Given the description of an element on the screen output the (x, y) to click on. 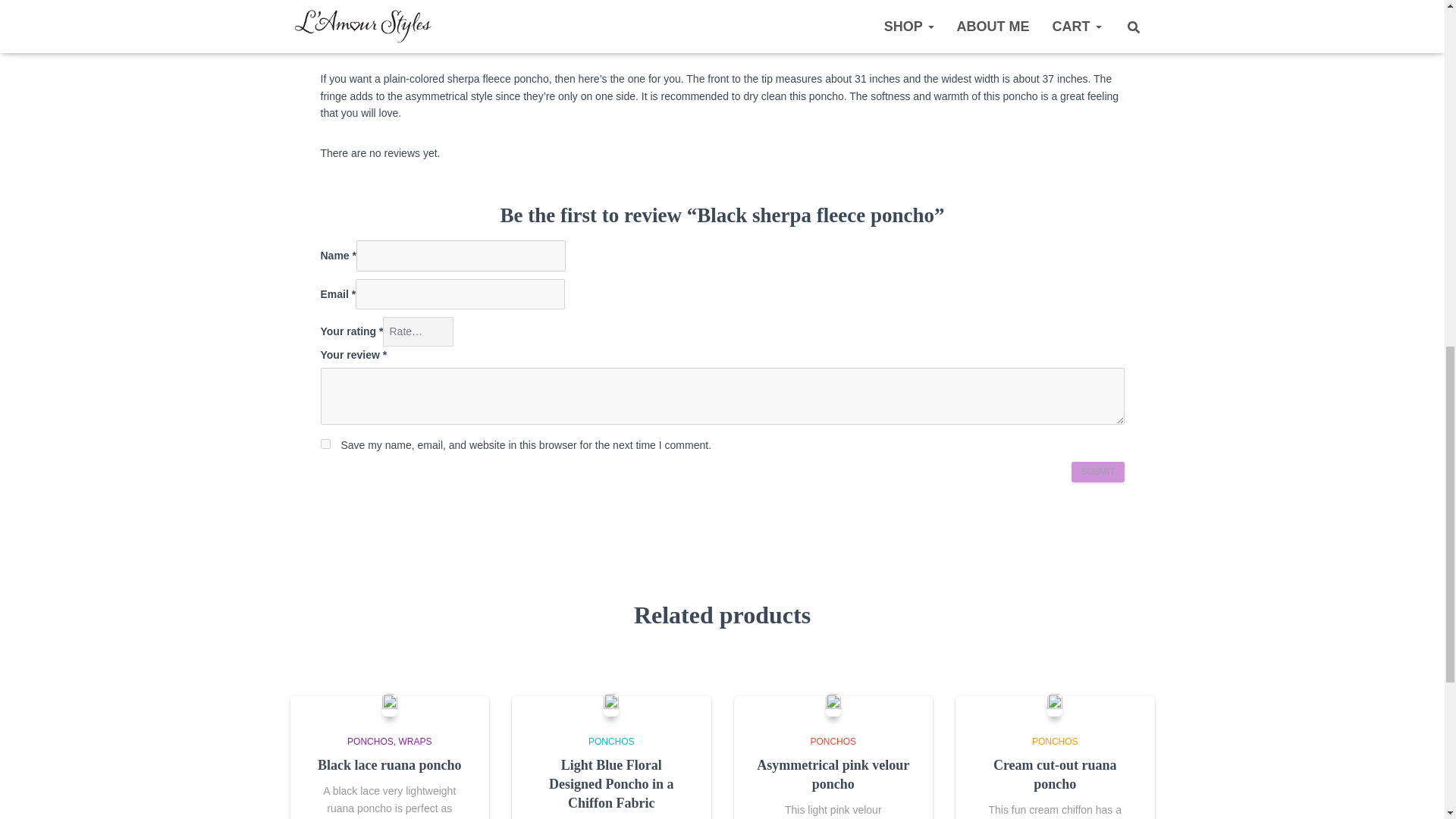
WRAPS (413, 741)
DESCRIPTION (367, 12)
Black lace ruana poncho (389, 765)
PONCHOS (372, 741)
yes (325, 443)
PONCHOS (611, 741)
Submit (1097, 471)
Submit (1097, 471)
